Given the description of an element on the screen output the (x, y) to click on. 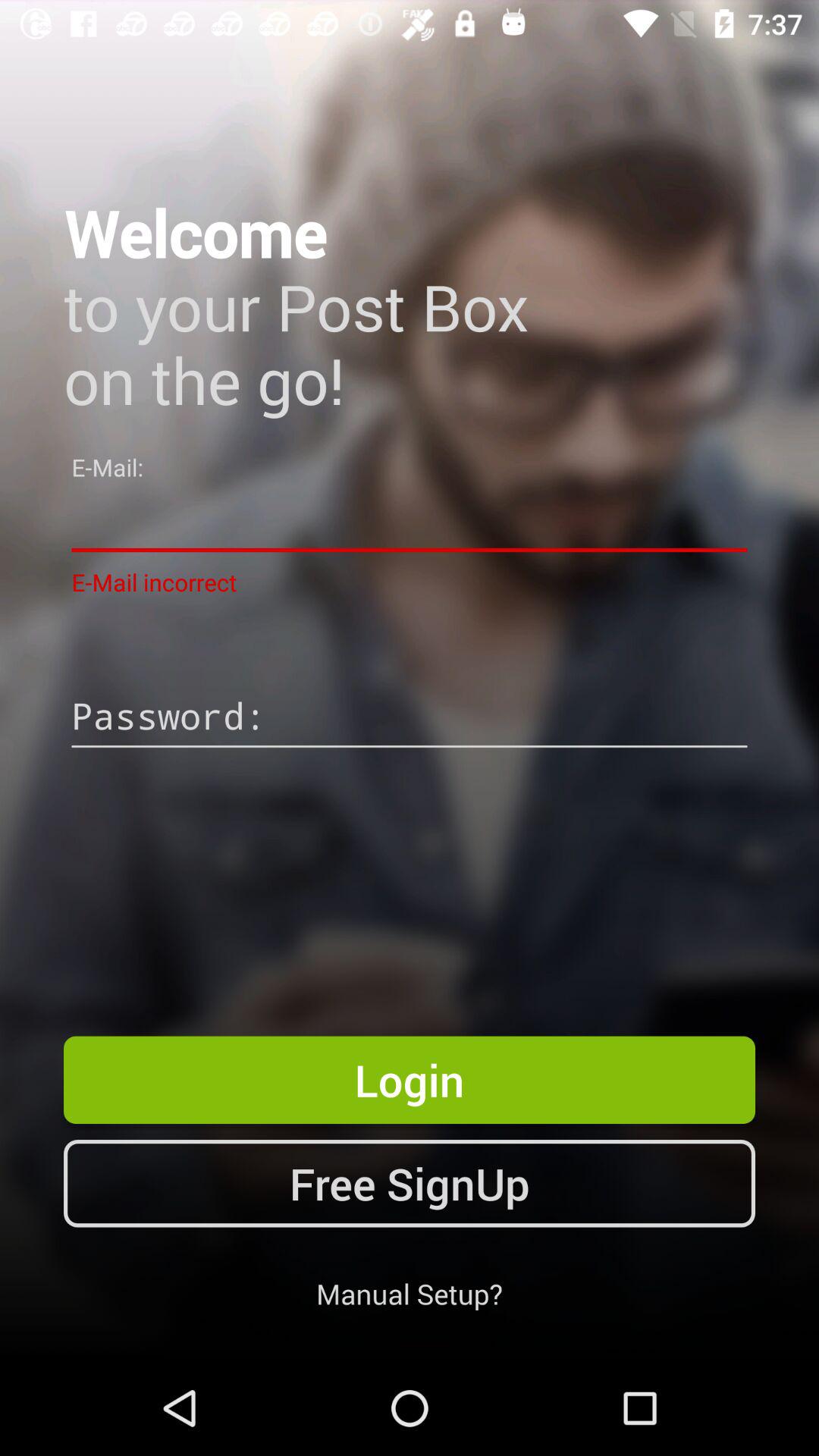
turn on item above e-mail incorrect app (409, 520)
